Given the description of an element on the screen output the (x, y) to click on. 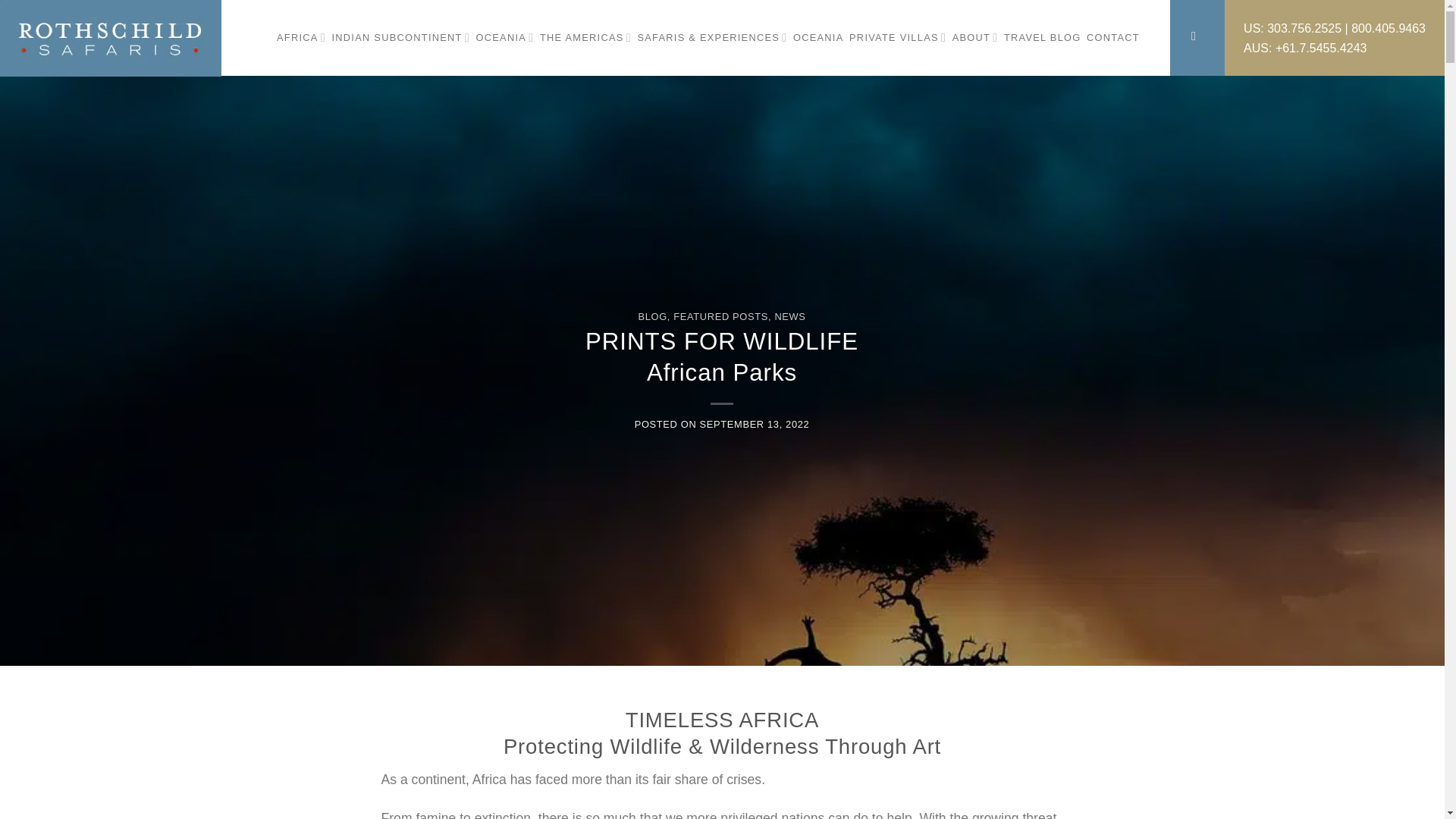
AFRICA (301, 37)
INDIAN SUBCONTINENT (400, 37)
THE AMERICAS (585, 37)
OCEANIA (505, 37)
Rothschild Safaris (112, 38)
